Given the description of an element on the screen output the (x, y) to click on. 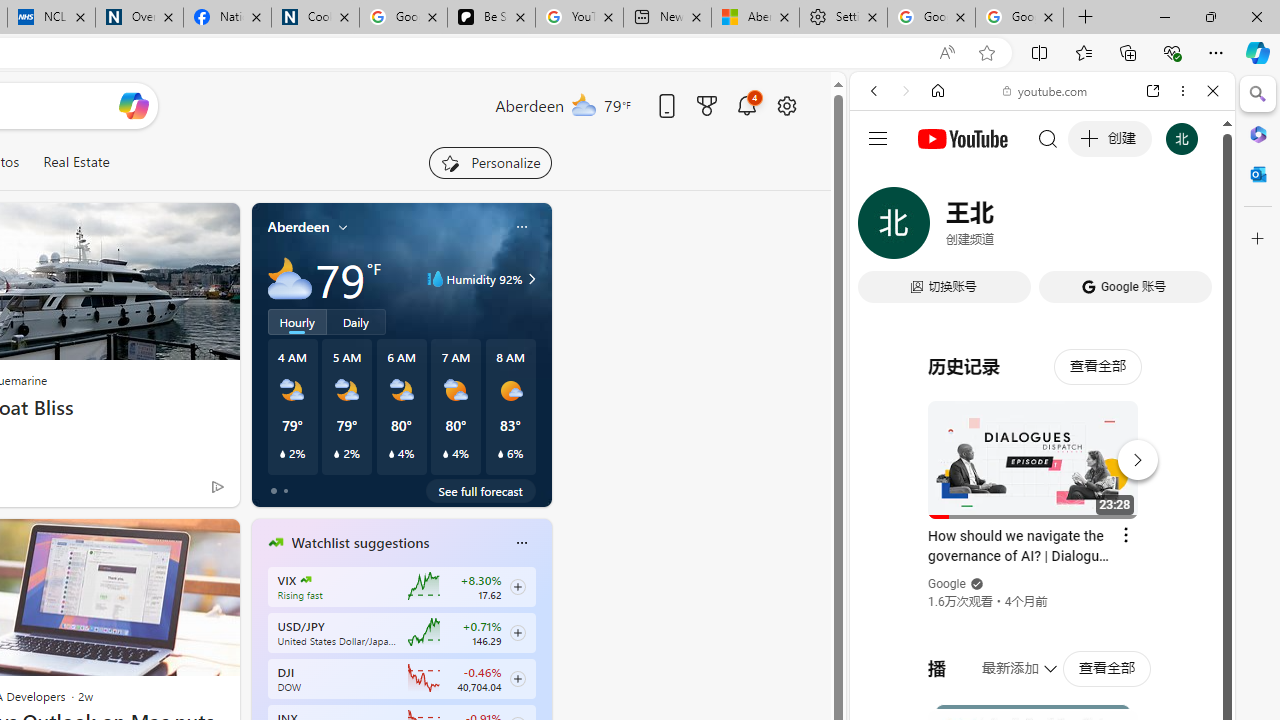
Show More Music (1164, 546)
Forward (906, 91)
Home (938, 91)
YouTube (1034, 296)
Mostly cloudy (289, 278)
My location (343, 227)
Search Filter, IMAGES (939, 228)
Music (1042, 543)
Close Customize pane (1258, 239)
